Given the description of an element on the screen output the (x, y) to click on. 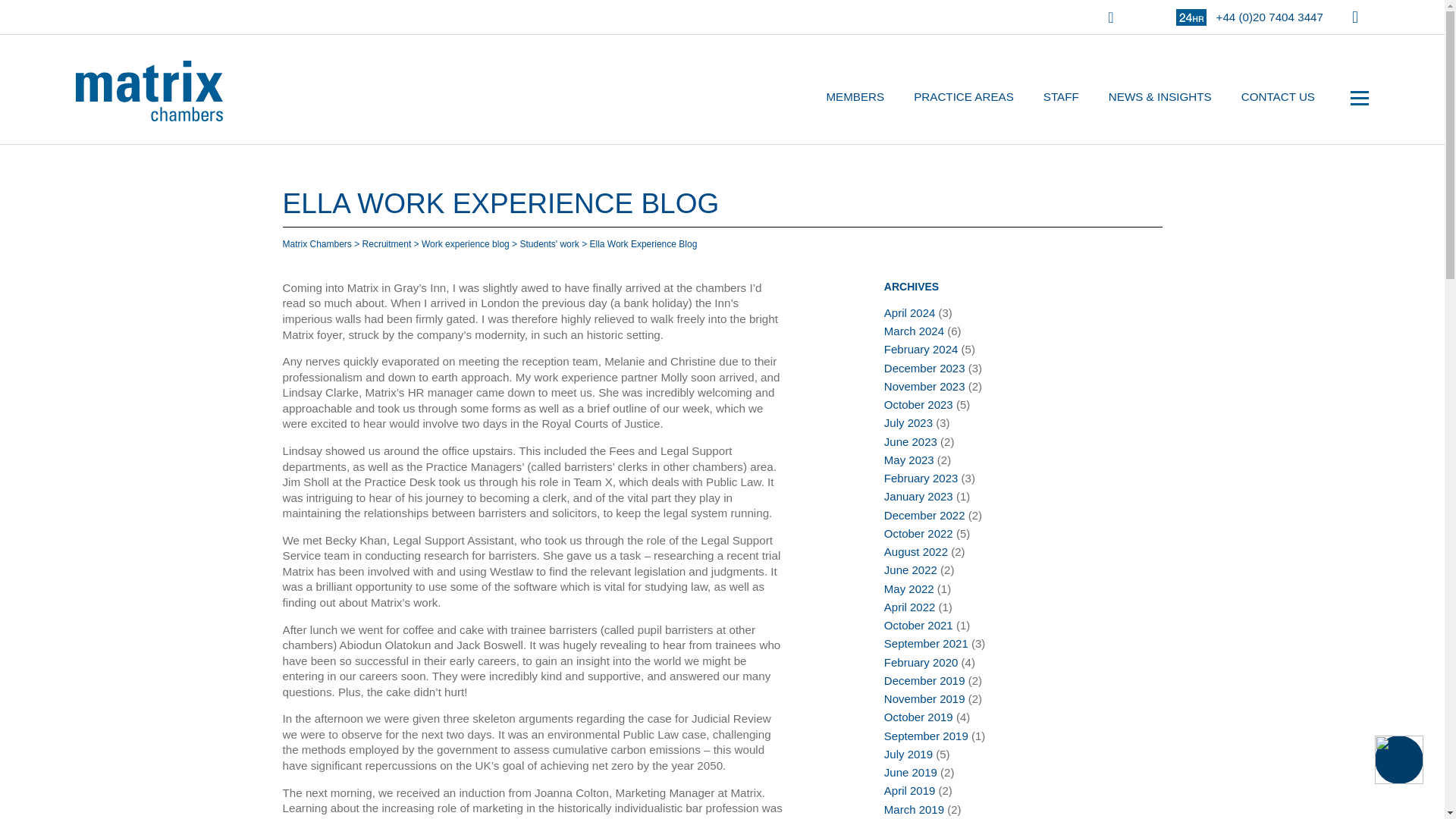
Go to Recruitment. (387, 244)
Go to Work experience blog. (465, 244)
CONTACT US (1277, 97)
Accessibility Menu (1398, 759)
Go to the Students' work category archives. (548, 244)
PRACTICE AREAS (963, 97)
MEMBERS (854, 97)
Go to Matrix Chambers. (316, 244)
STAFF (1061, 97)
